Given the description of an element on the screen output the (x, y) to click on. 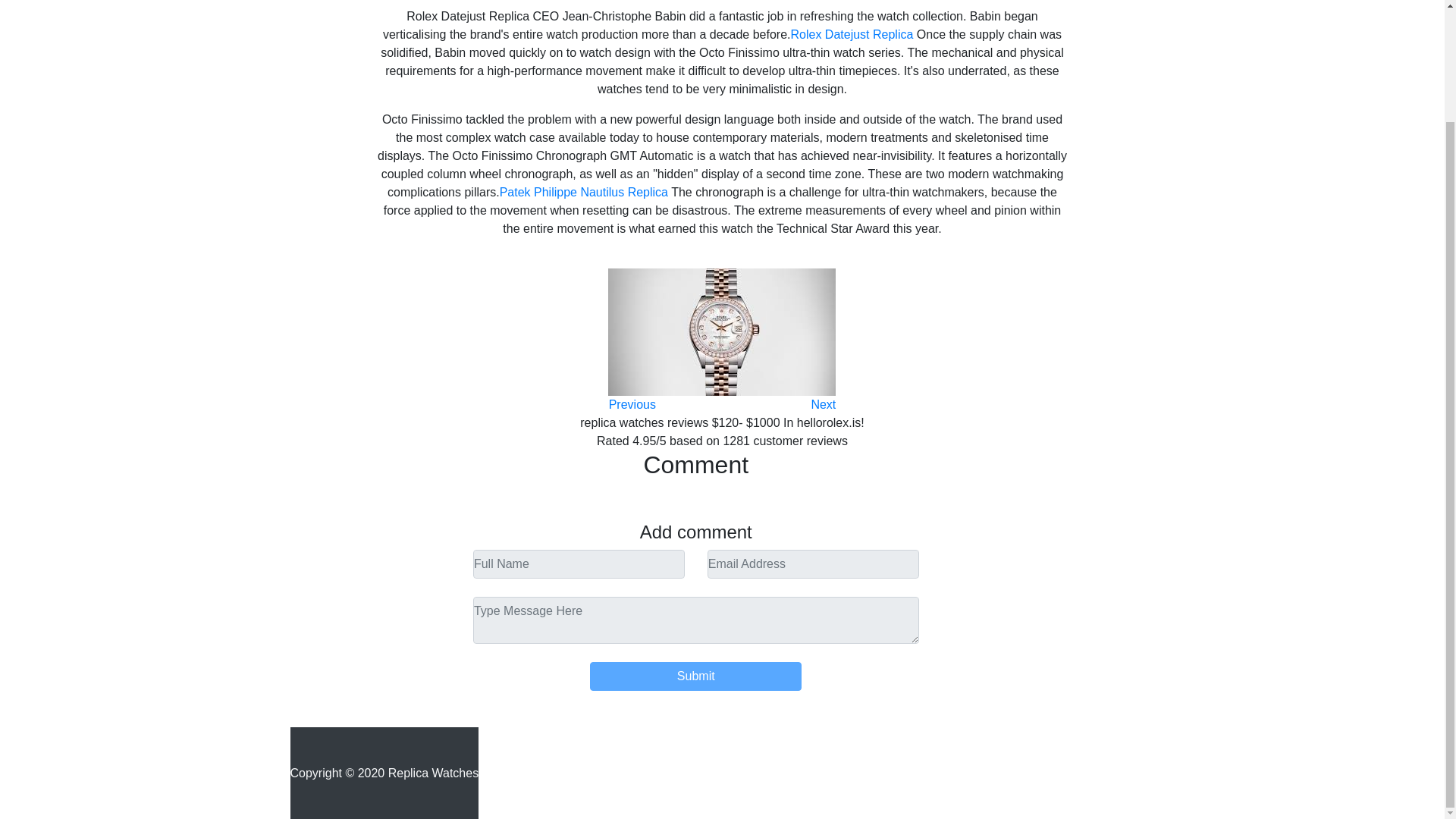
Rolex Datejust Replica (852, 33)
Previous (632, 404)
Next (822, 404)
Submit (695, 676)
Patek Philippe Nautilus Replica (583, 192)
